Given the description of an element on the screen output the (x, y) to click on. 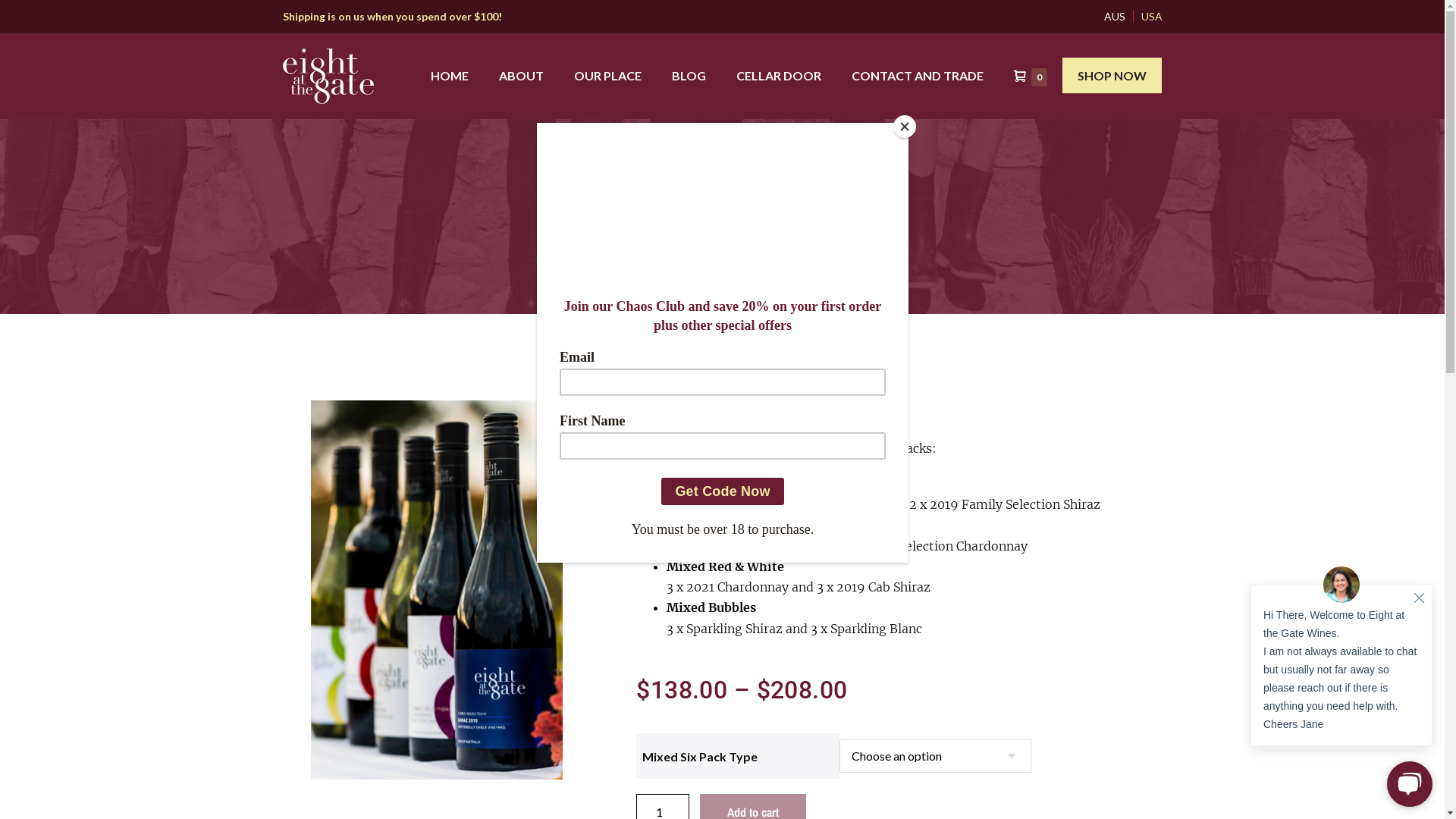
0 Element type: text (1030, 75)
OUR PLACE Element type: text (607, 75)
FS Shz focus tiny Element type: hover (435, 589)
BLOG Element type: text (688, 75)
Home Element type: text (643, 352)
CONTACT AND TRADE Element type: text (917, 75)
AUS Element type: text (1110, 15)
Uncategorised Element type: text (700, 352)
HOME Element type: text (449, 75)
CELLAR DOOR Element type: text (778, 75)
USA Element type: text (1147, 15)
Eight at the Gate Element type: hover (327, 75)
SHOP NOW Element type: text (1111, 75)
ABOUT Element type: text (520, 75)
